Given the description of an element on the screen output the (x, y) to click on. 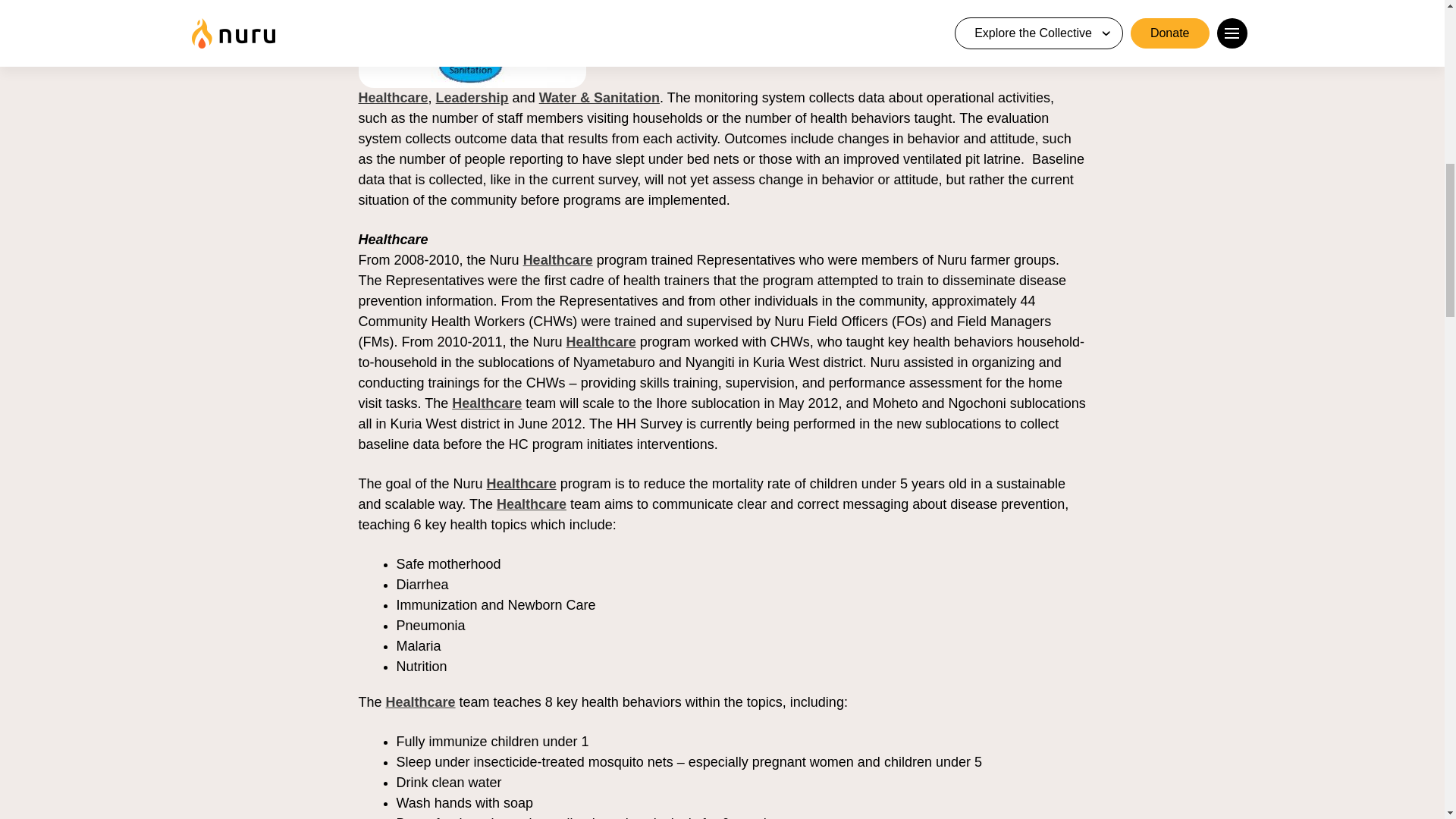
Nuru's Healthcare Program (521, 483)
Nuru's Agriculture Program (931, 6)
Nuru's Healthcare Program (531, 503)
Leadership (471, 97)
Nuru's Healthcare Program (486, 403)
CED (989, 6)
Nuru's Healthcare Program (557, 259)
Healthcare (393, 97)
Nuru's Healthcare Program (601, 341)
Nuru's focus on Service Leadership (471, 97)
